Given the description of an element on the screen output the (x, y) to click on. 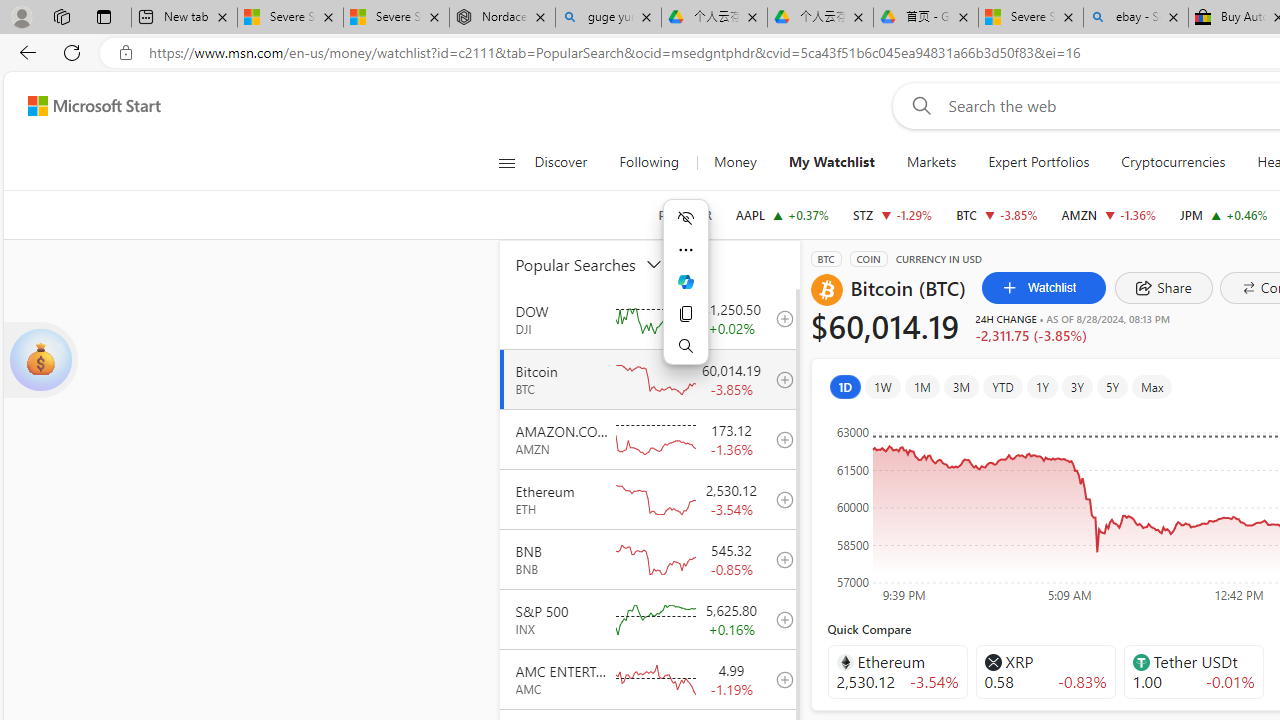
More actions (685, 249)
POPULAR (684, 215)
show card (40, 359)
Web search (917, 105)
Mini menu on text selection (685, 293)
Bitcoin (826, 290)
5Y (1111, 386)
Skip to footer (82, 105)
1Y (1042, 386)
